Given the description of an element on the screen output the (x, y) to click on. 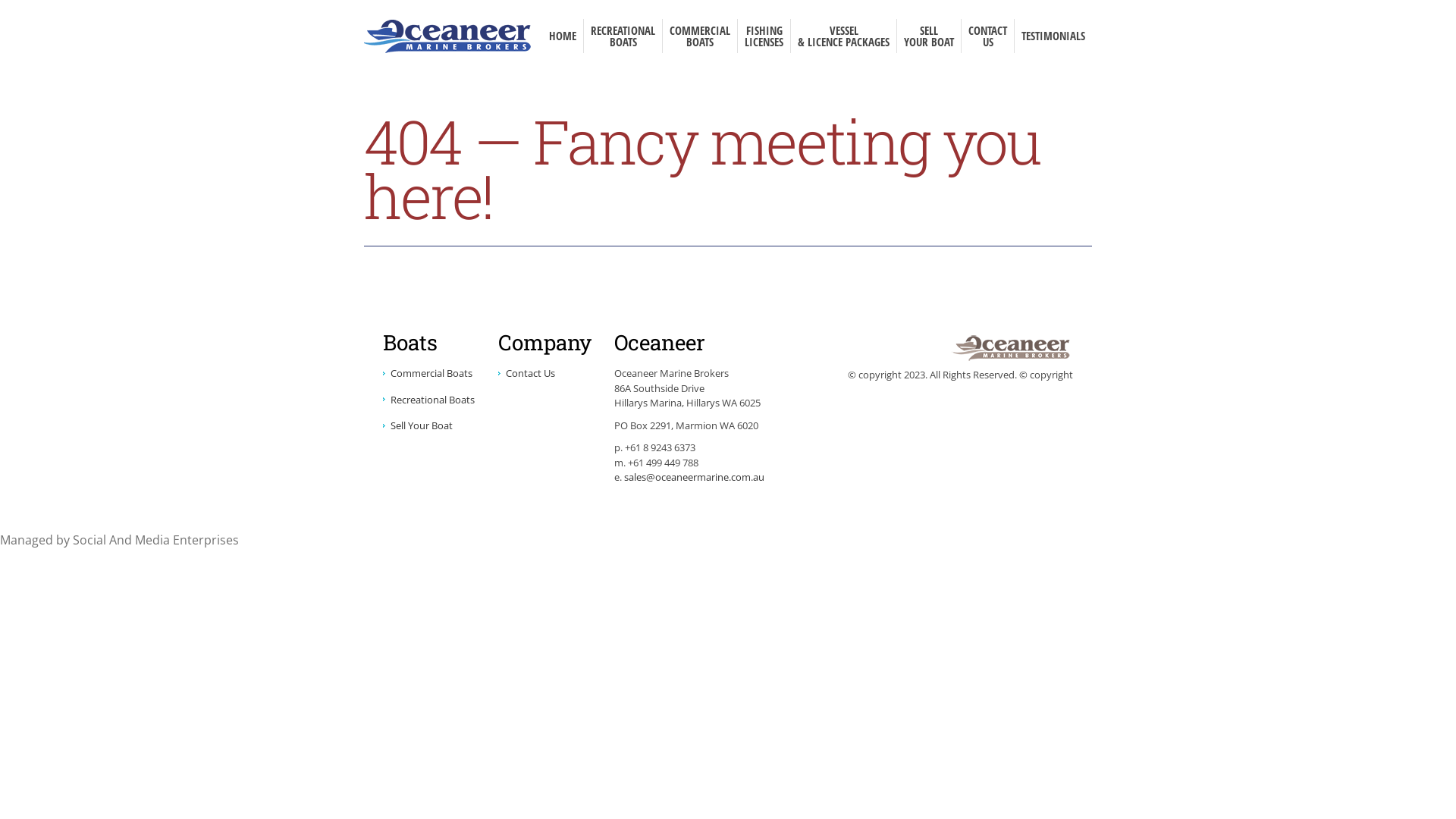
RECREATIONAL
BOATS Element type: text (622, 35)
Commercial Boats Element type: text (427, 372)
Managed by Social And Media Enterprises Element type: text (119, 539)
CONTACT
US Element type: text (986, 35)
VESSEL
& LICENCE PACKAGES Element type: text (843, 35)
SELL
YOUR BOAT Element type: text (928, 35)
sales@oceaneermarine.com.au Element type: text (693, 476)
TESTIMONIALS Element type: text (1052, 35)
COMMERCIAL
BOATS Element type: text (699, 35)
Recreational Boats Element type: text (428, 399)
HOME Element type: text (562, 35)
Contact Us Element type: text (526, 372)
Sell Your Boat Element type: text (417, 425)
FISHING
LICENSES Element type: text (763, 35)
